Given the description of an element on the screen output the (x, y) to click on. 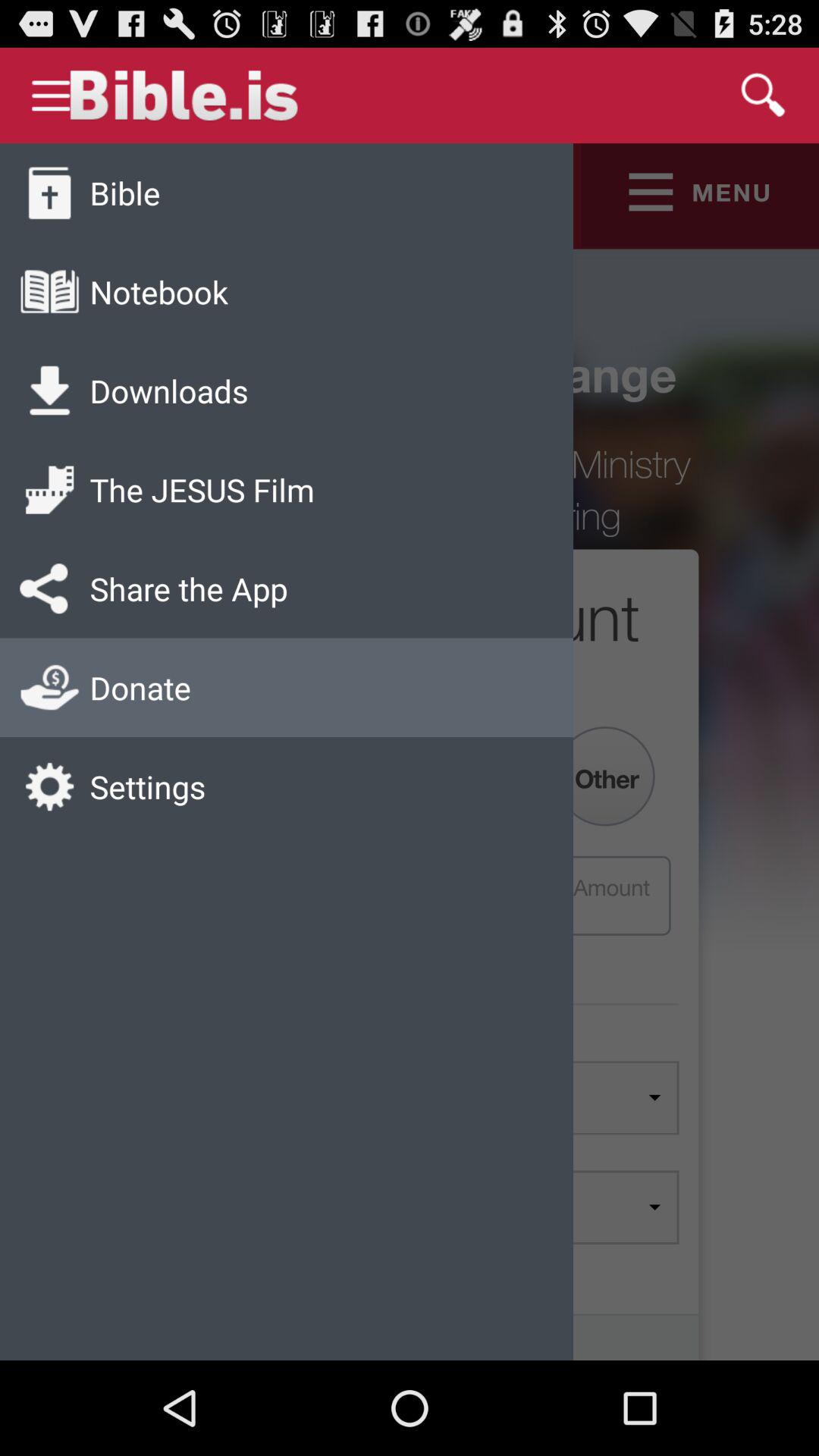
tap the notebook icon (158, 291)
